Given the description of an element on the screen output the (x, y) to click on. 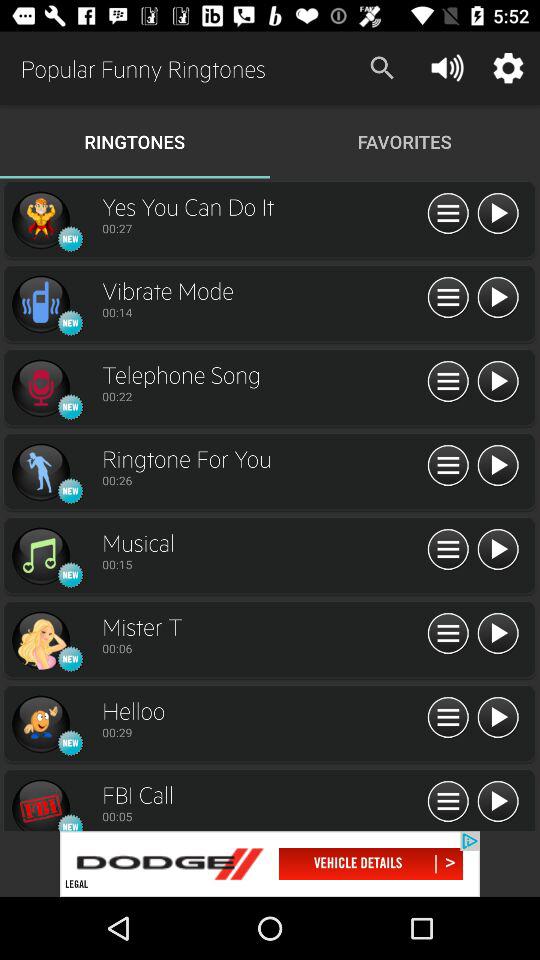
menu icon (447, 297)
